Given the description of an element on the screen output the (x, y) to click on. 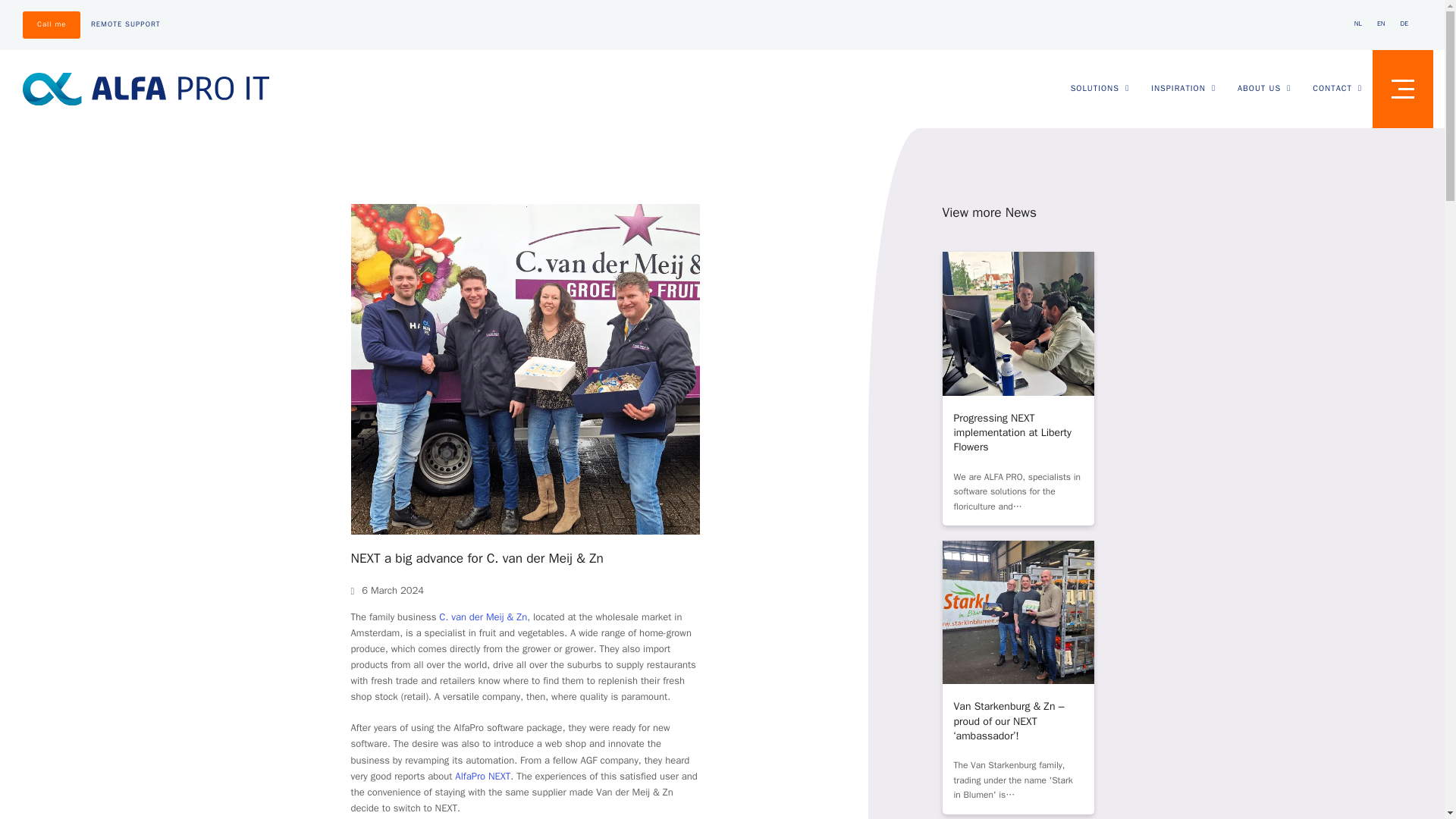
NL (1358, 24)
REMOTE SUPPORT (125, 23)
ABOUT US (1263, 88)
CONTACT (1337, 88)
Progressing NEXT implementation at Liberty Flowers (1012, 432)
AlfaPro NEXT (482, 775)
Remote support (125, 23)
INSPIRATION (1182, 88)
Progressing NEXT implementation at Liberty Flowers (1017, 322)
EN (1381, 24)
